Given the description of an element on the screen output the (x, y) to click on. 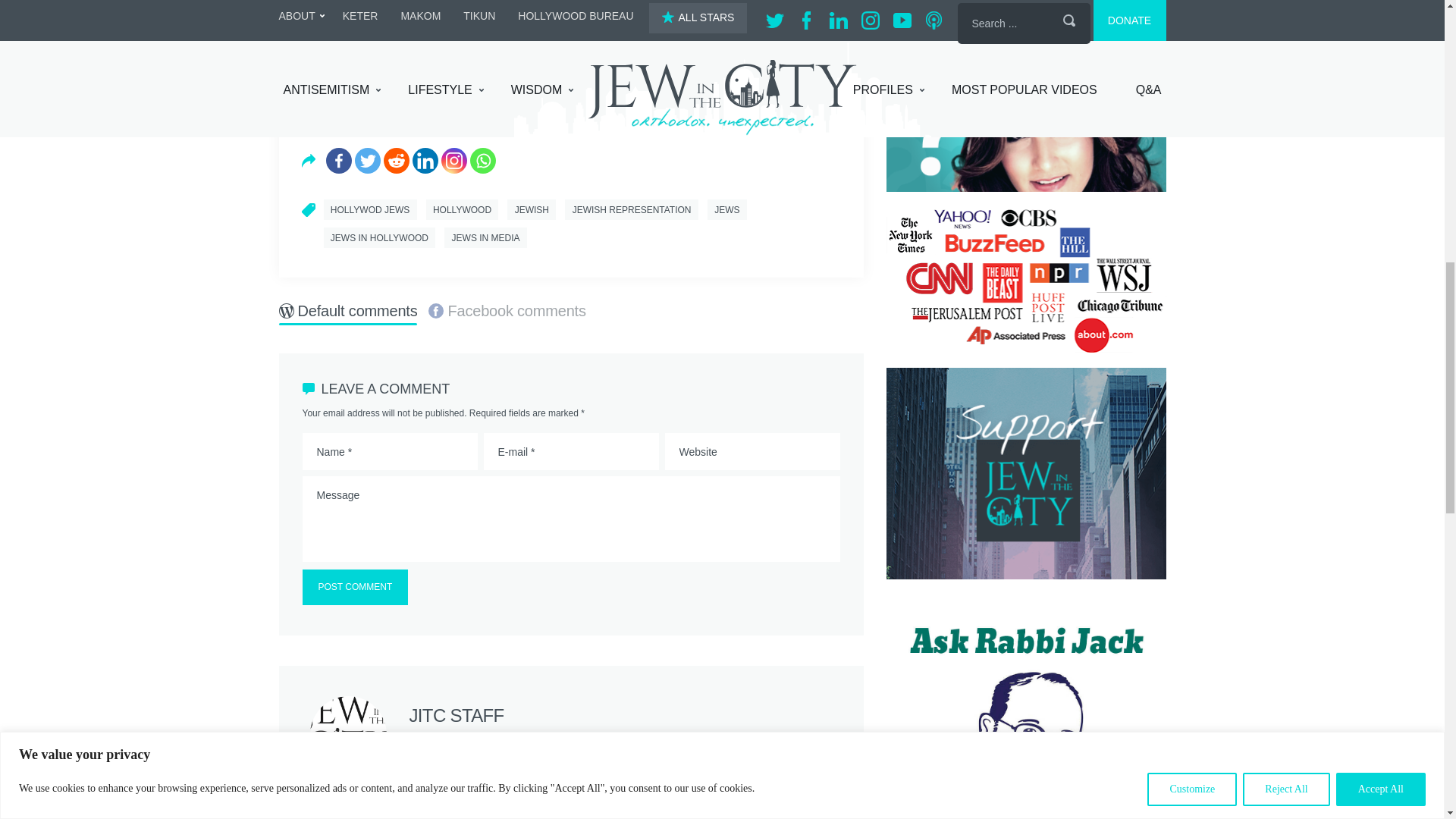
Post comment (354, 587)
Whatsapp (483, 160)
Linkedin (425, 160)
Instagram (454, 160)
Facebook (339, 160)
Twitter (367, 160)
Reddit (396, 160)
